Given the description of an element on the screen output the (x, y) to click on. 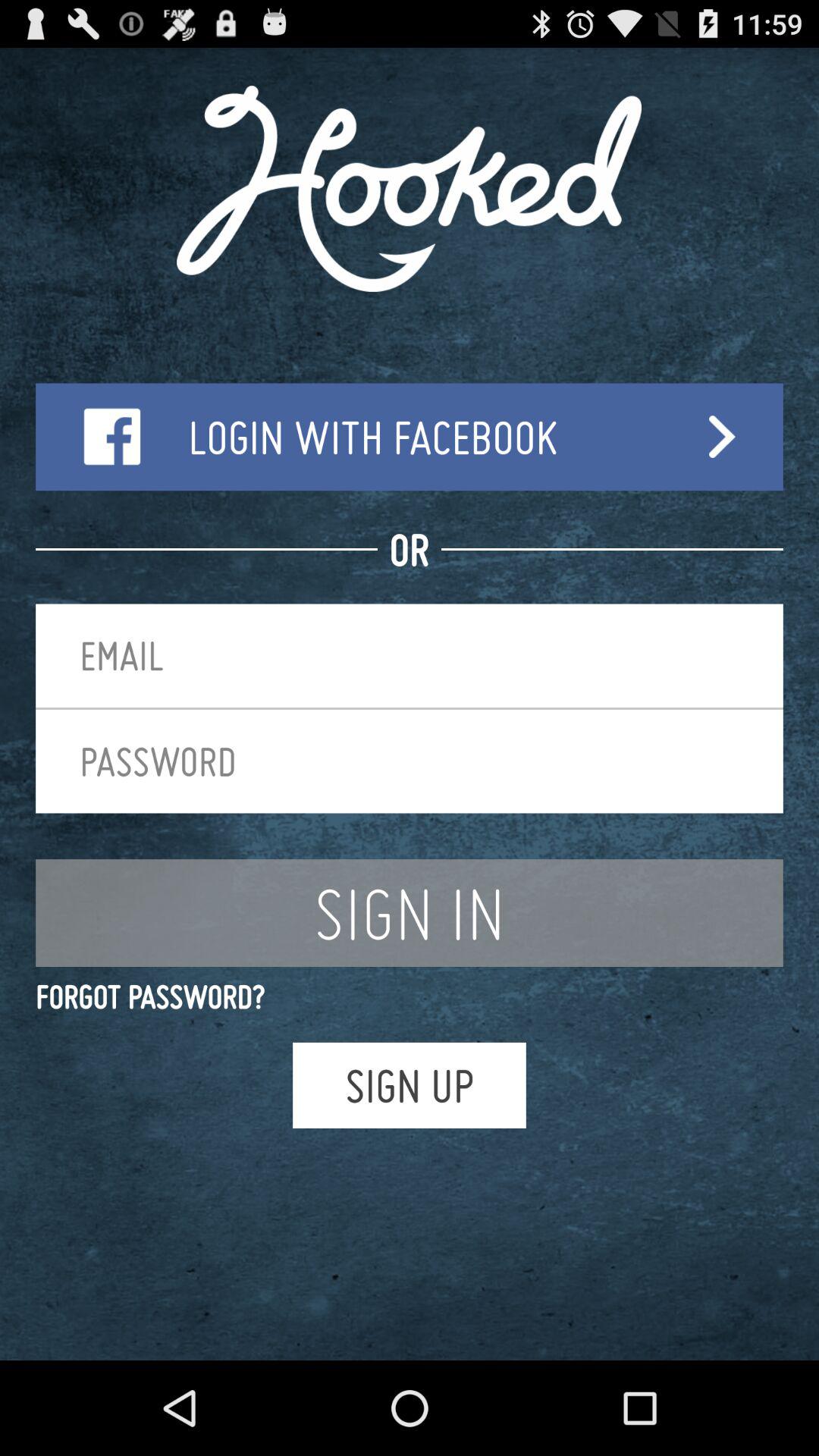
flip until forgot password? item (409, 996)
